Given the description of an element on the screen output the (x, y) to click on. 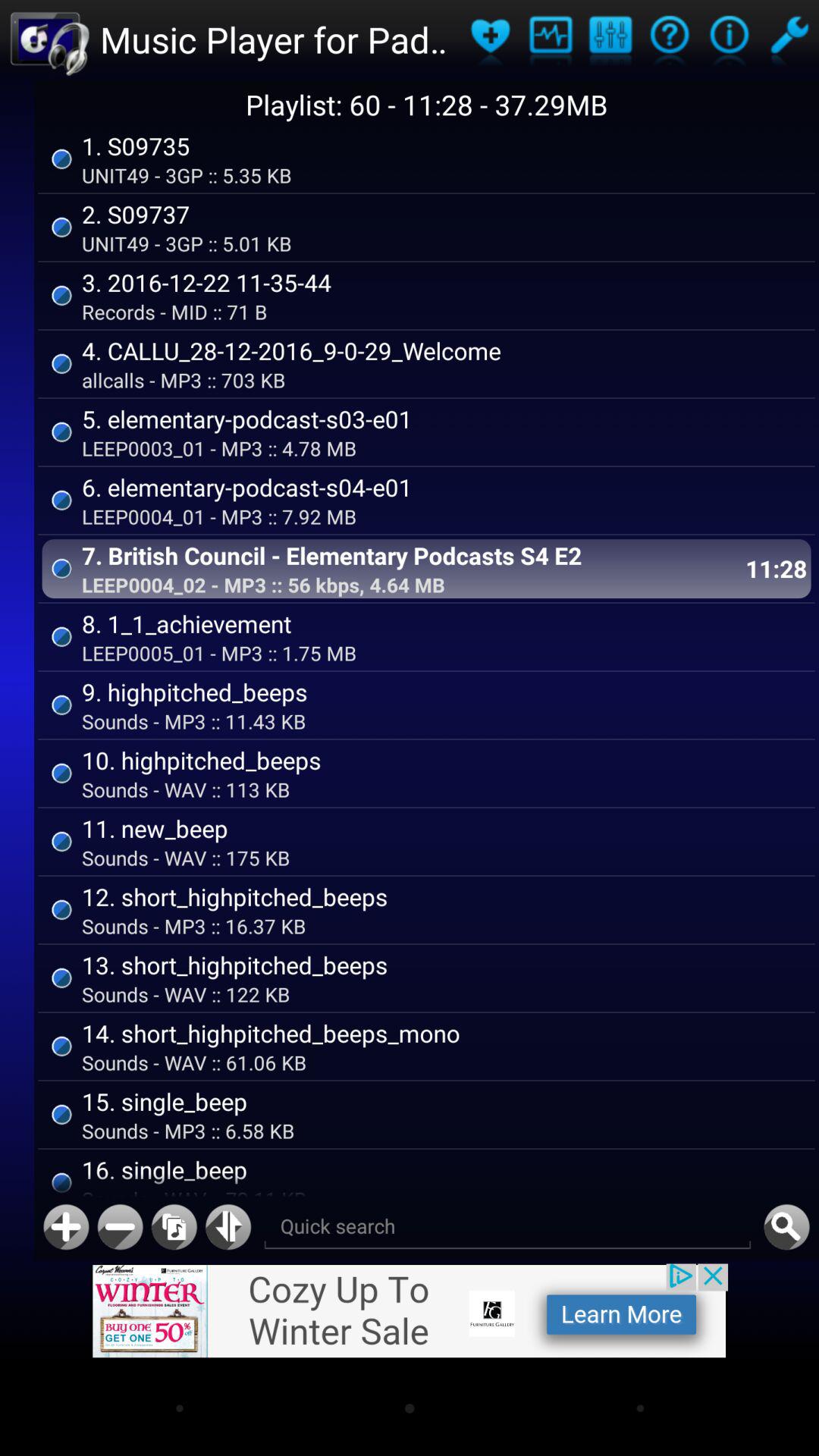
advertisement (409, 1310)
